Given the description of an element on the screen output the (x, y) to click on. 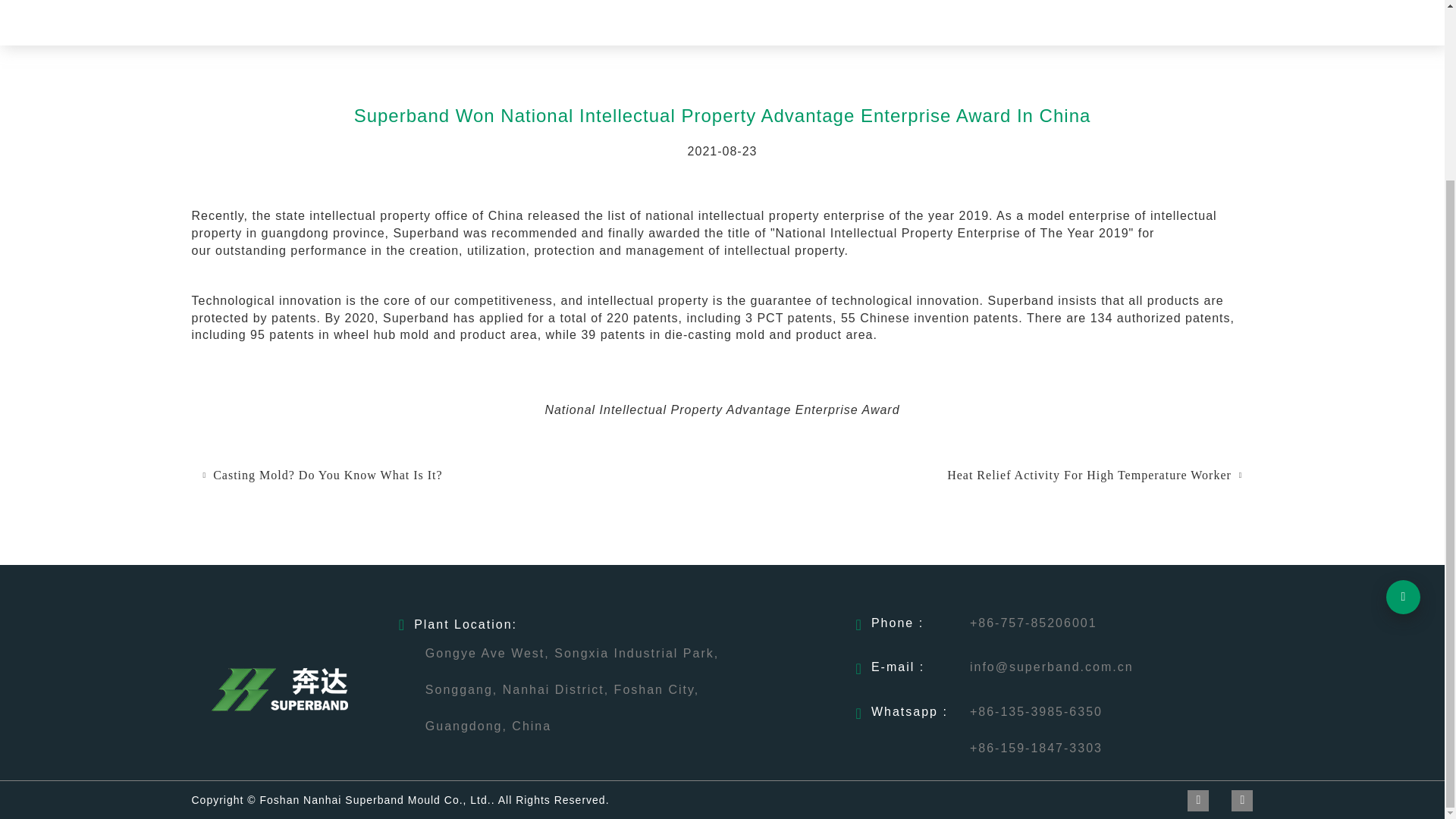
News (262, 18)
Casting Mold? Do You Know What Is It? (327, 475)
News (262, 18)
Heat Relief Activity For High Temperature Worker (1089, 475)
Home (221, 18)
